Given the description of an element on the screen output the (x, y) to click on. 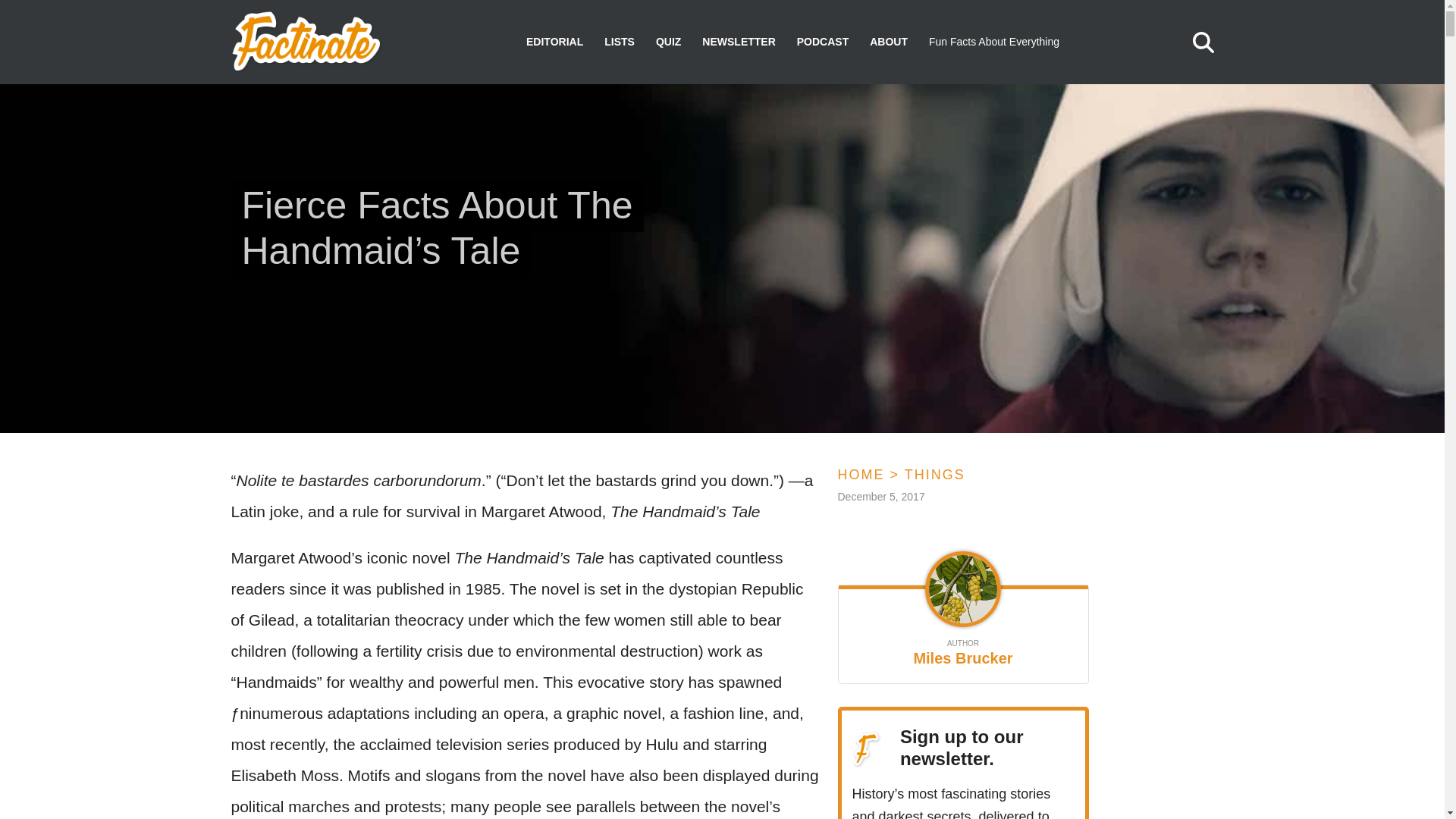
PODCAST (822, 41)
QUIZ (668, 41)
LISTS (619, 41)
EDITORIAL (554, 41)
ABOUT (888, 41)
NEWSLETTER (737, 41)
